Given the description of an element on the screen output the (x, y) to click on. 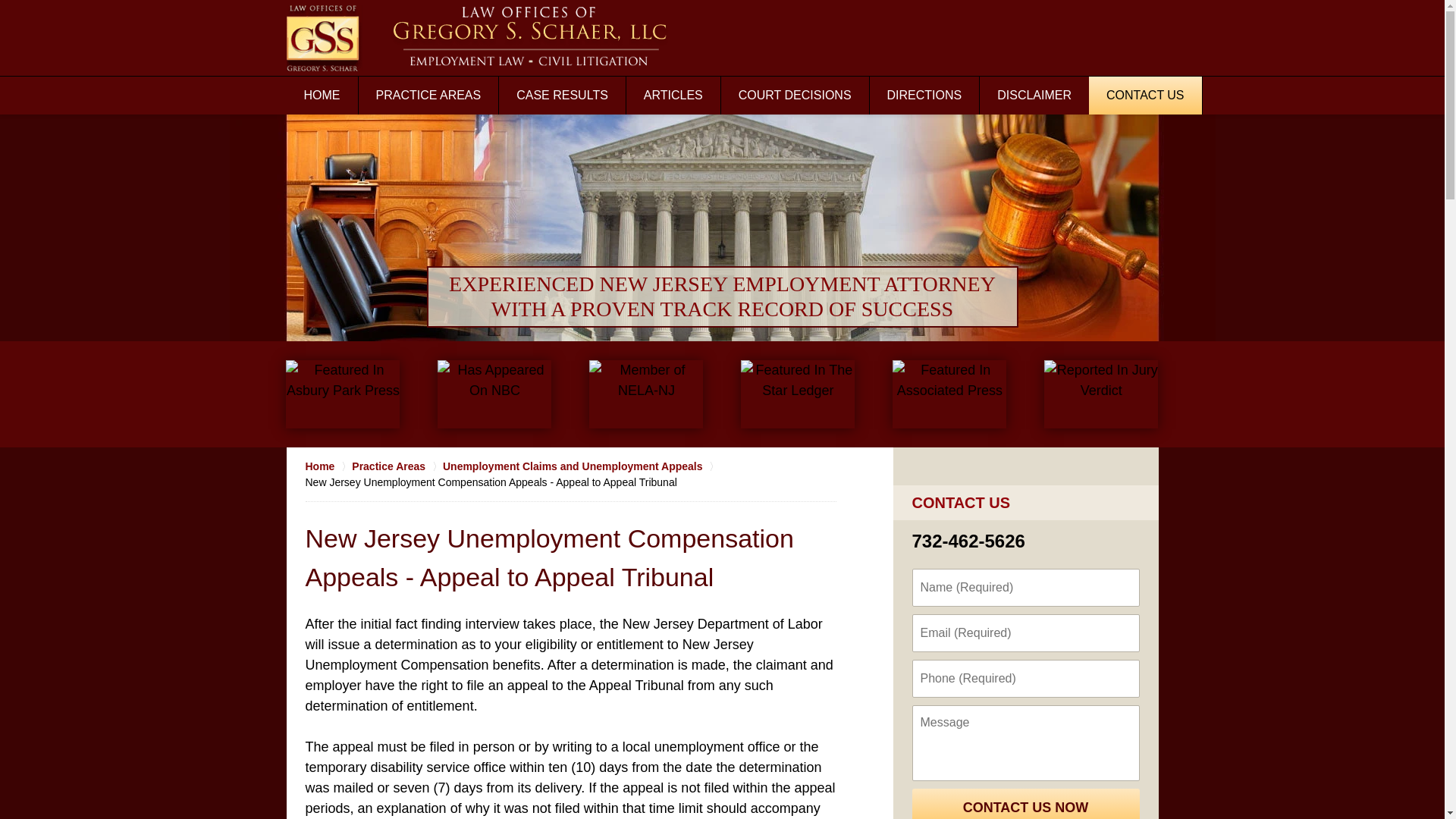
CONTACT US (960, 502)
DISCLAIMER (1034, 95)
COURT DECISIONS (794, 95)
HOME (322, 95)
CONTACT US NOW (1024, 803)
CONTACT US (1145, 95)
Back to Home (477, 37)
Home (328, 465)
Freehold Employment Litigation Lawyer Gregory S. Schaer Home (477, 37)
DIRECTIONS (924, 95)
Unemployment Claims and Unemployment Appeals (580, 465)
Practice Areas (397, 465)
PRACTICE AREAS (427, 95)
